Given the description of an element on the screen output the (x, y) to click on. 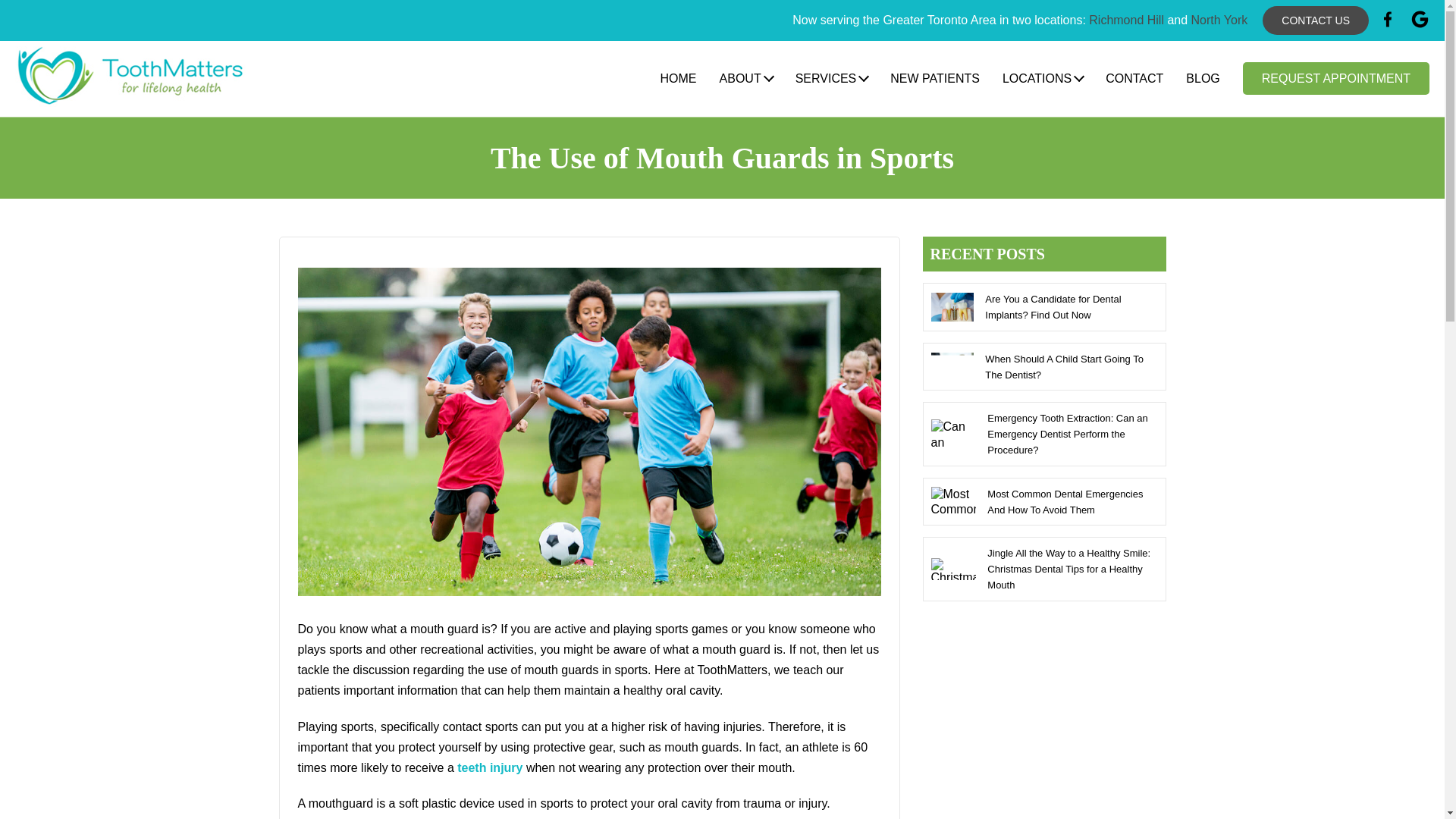
SERVICES (830, 78)
NEW PATIENTS (934, 78)
North York (1219, 19)
CONTACT US (1315, 20)
Richmond Hill (1126, 19)
